Given the description of an element on the screen output the (x, y) to click on. 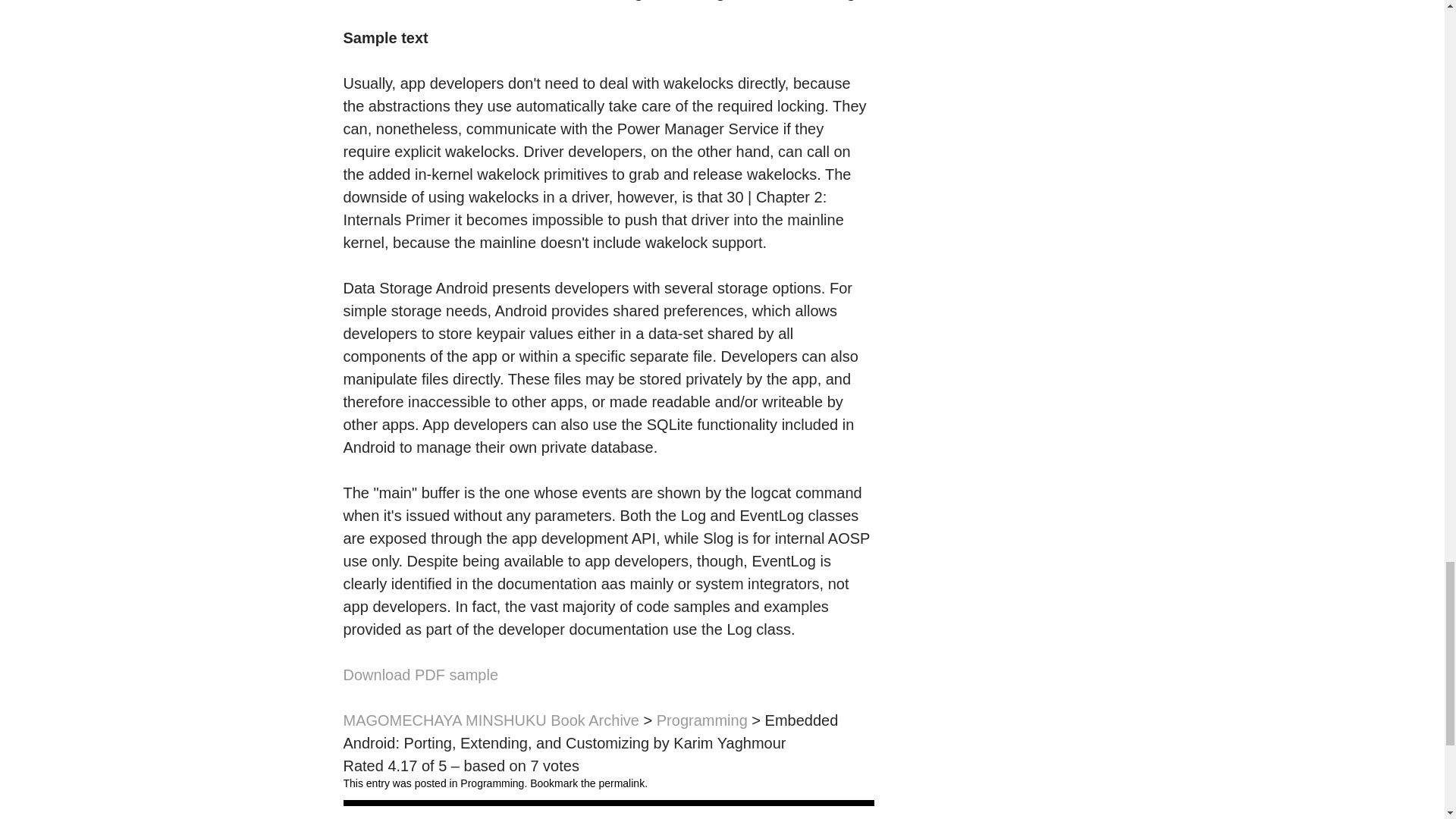
Programming (702, 719)
MAGOMECHAYA MINSHUKU Book Archive (490, 719)
permalink (621, 783)
Go to the Programming category archives. (702, 719)
Embedded Android: Porting, Extending, and Customizing (419, 674)
Programming (492, 783)
Go to MAGOMECHAYA MINSHUKU Book Archive. (490, 719)
Download PDF sample (419, 674)
